Given the description of an element on the screen output the (x, y) to click on. 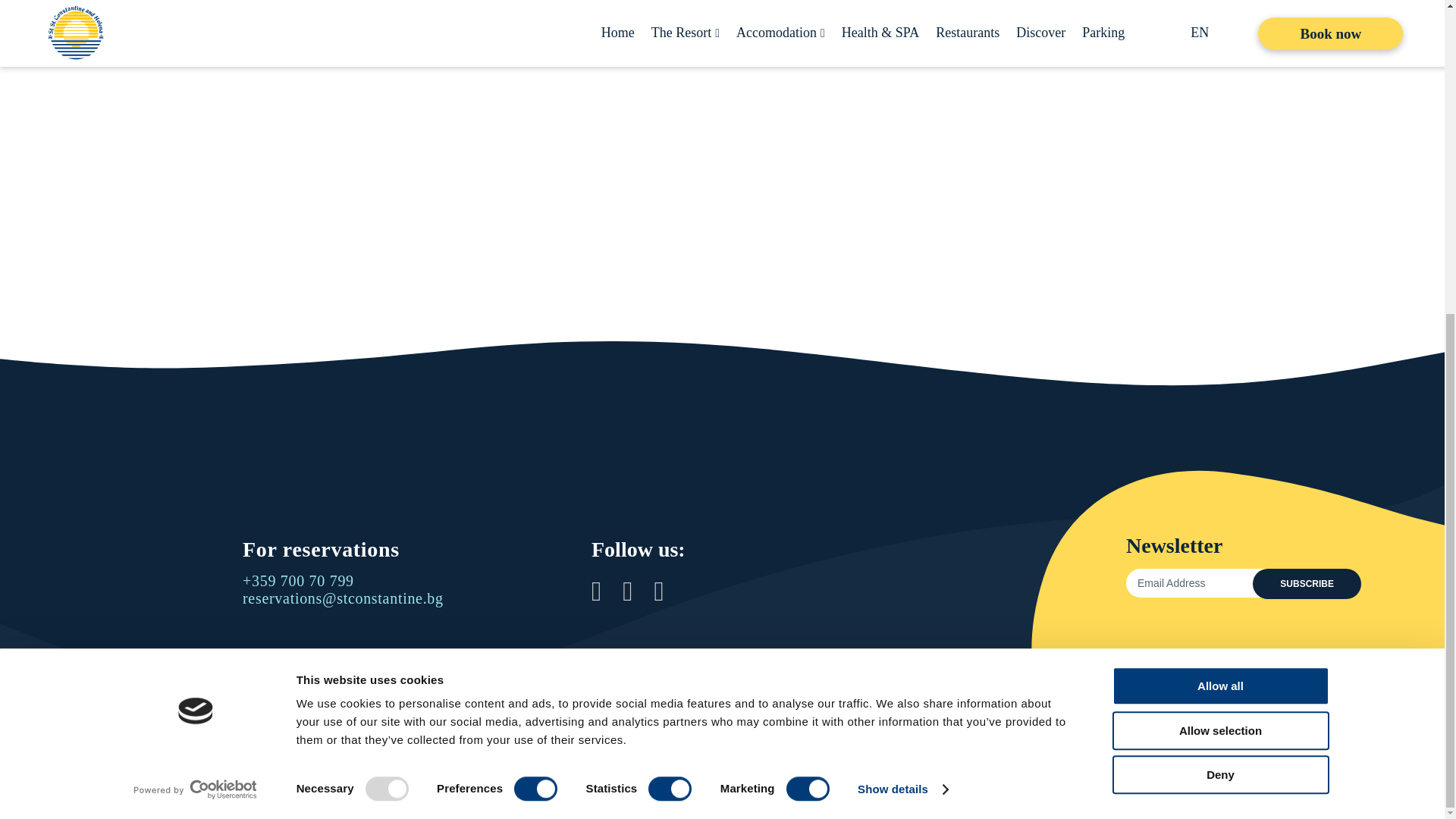
Allow all (1219, 182)
Allow selection (1219, 227)
Deny (1219, 271)
Show details (902, 286)
